Given the description of an element on the screen output the (x, y) to click on. 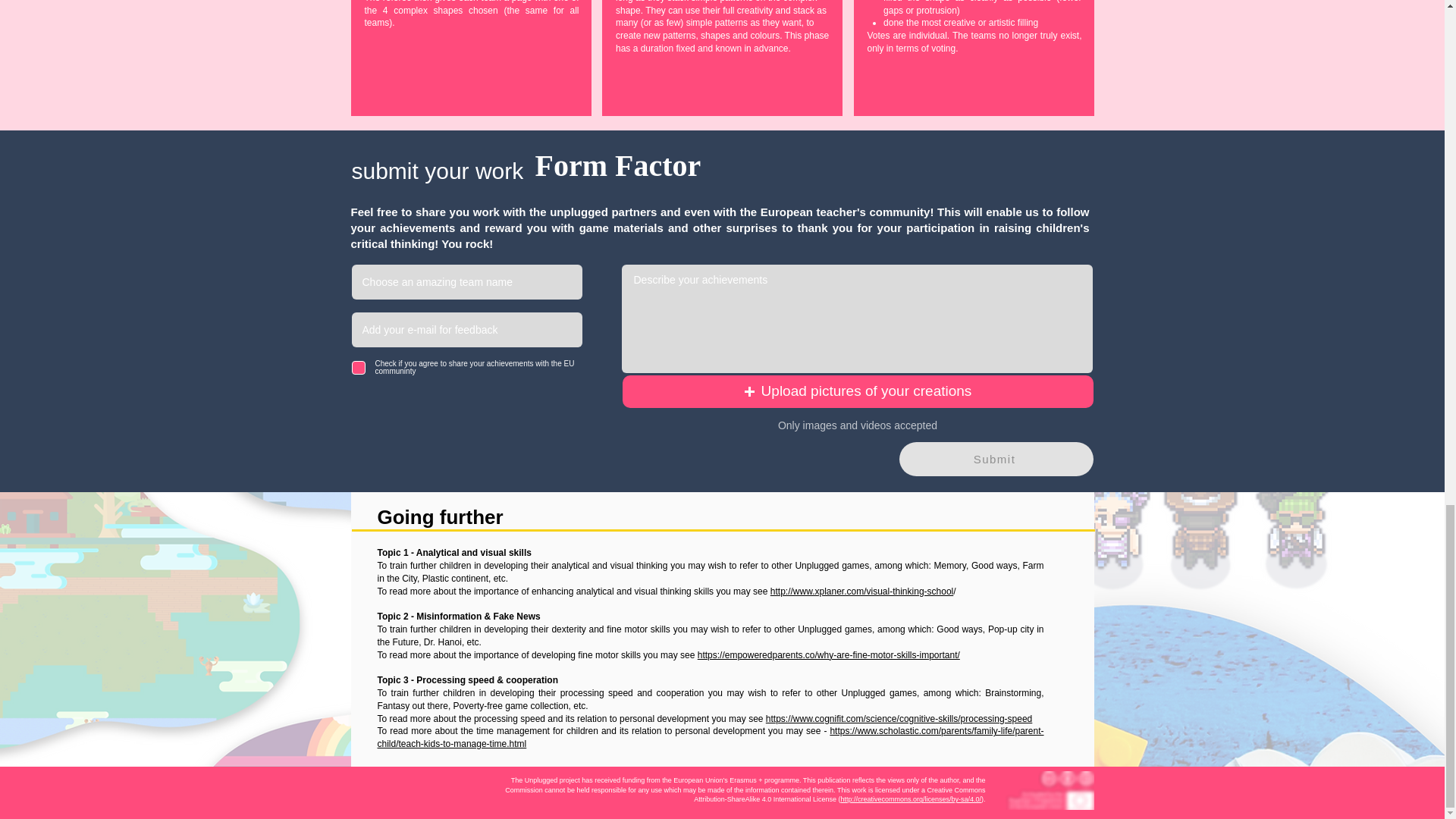
Submit (996, 458)
Only images and videos accepted (857, 426)
